Given the description of an element on the screen output the (x, y) to click on. 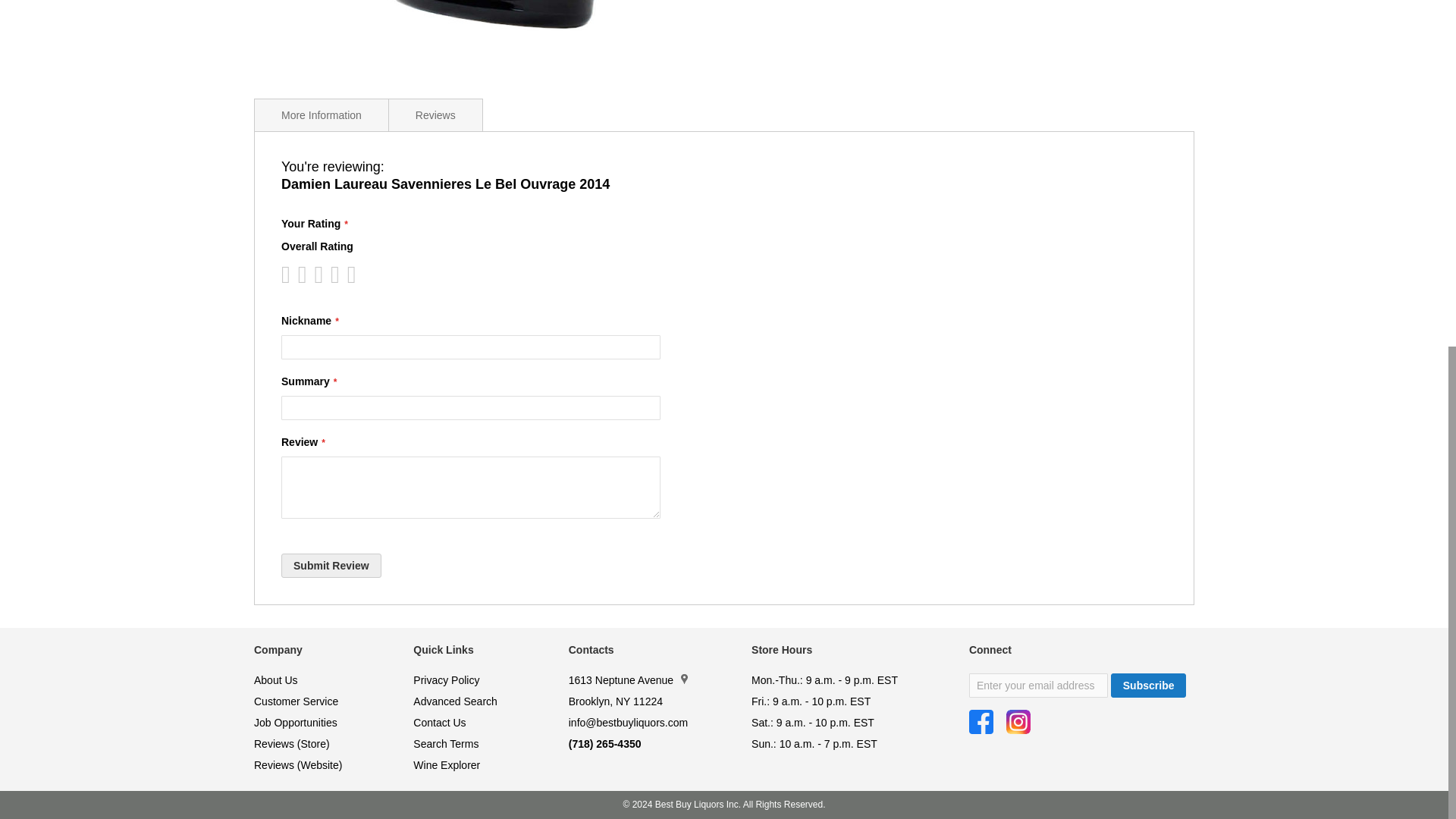
3 stars (305, 274)
Subscribe (1148, 685)
4 stars (314, 274)
2 stars (297, 274)
5 stars (321, 274)
